Given the description of an element on the screen output the (x, y) to click on. 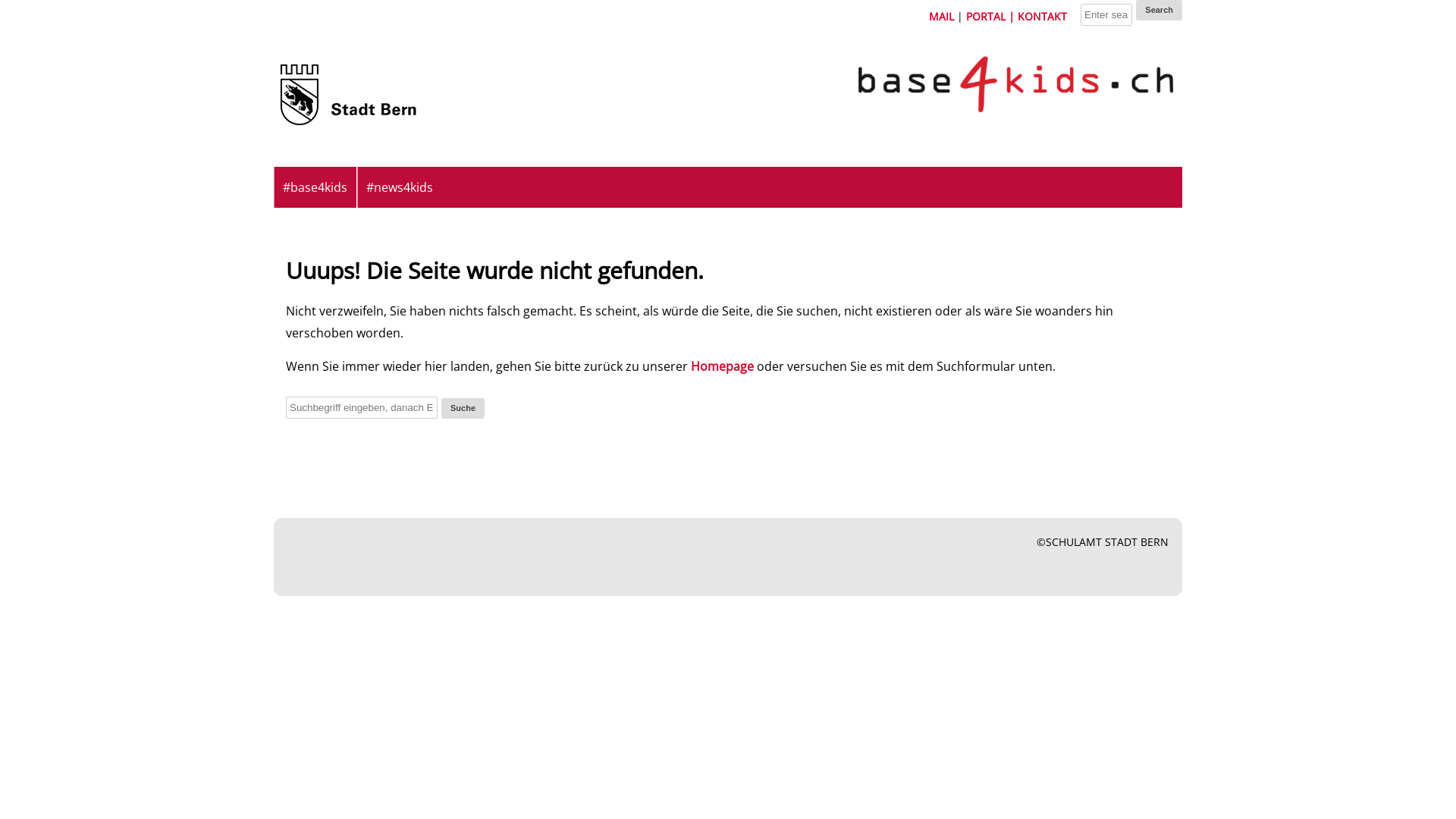
MAIL Element type: text (940, 16)
KONTAKT Element type: text (1041, 16)
PORTAL |  Element type: text (991, 16)
#base4kids Element type: text (314, 186)
#news4kids Element type: text (399, 186)
Search Element type: text (1158, 10)
Suche Element type: text (462, 407)
Homepage Element type: text (721, 365)
